Given the description of an element on the screen output the (x, y) to click on. 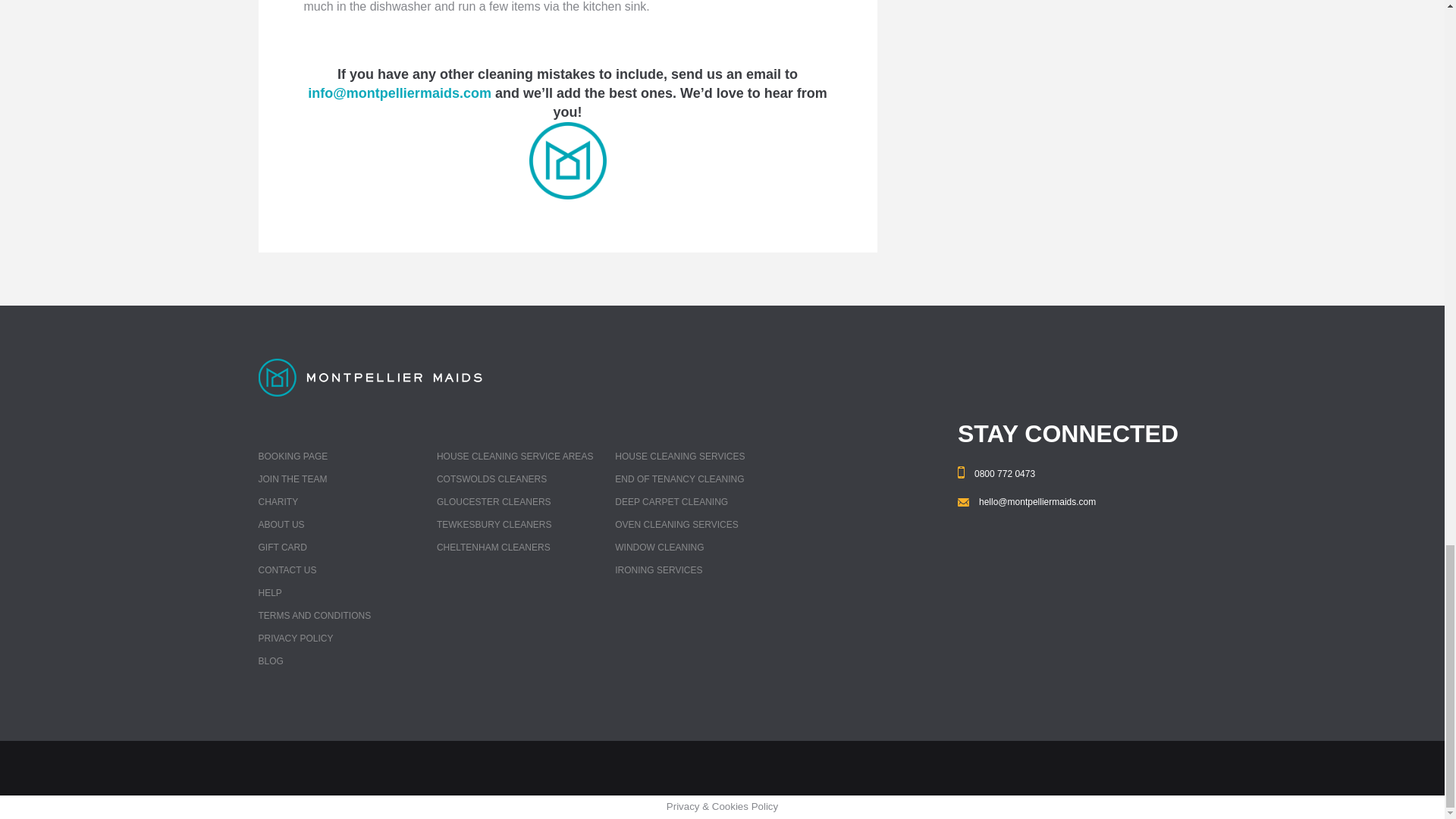
PRIVACY POLICY (295, 638)
BOOKING PAGE (292, 456)
TEWKESBURY CLEANERS (493, 524)
TERMS AND CONDITIONS (314, 615)
GLOUCESTER CLEANERS (493, 501)
CHARITY (277, 501)
CHELTENHAM CLEANERS (493, 547)
JOIN THE TEAM (291, 479)
COTSWOLDS CLEANERS (491, 479)
ABOUT US (280, 524)
